Given the description of an element on the screen output the (x, y) to click on. 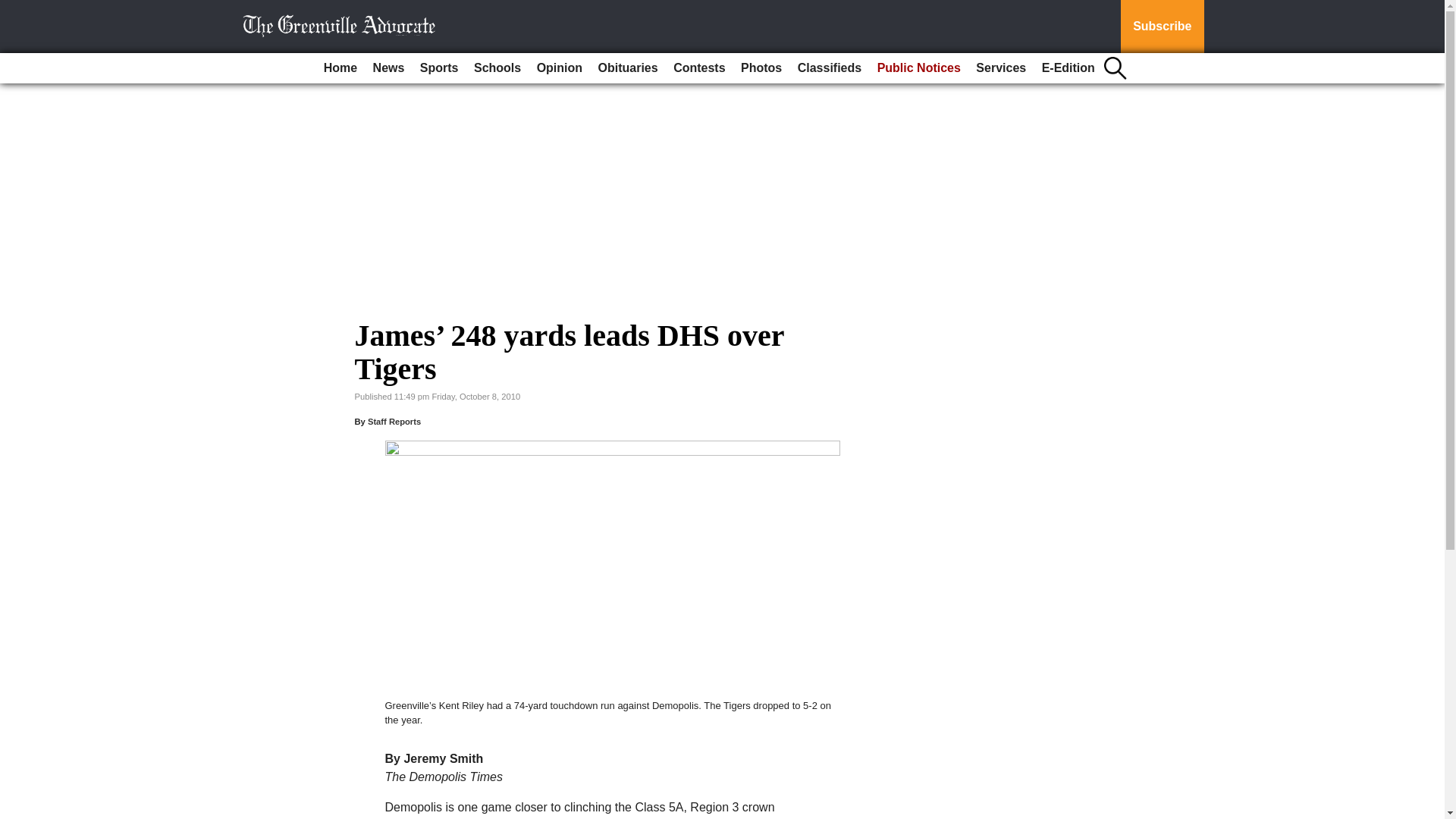
Photos (761, 68)
Contests (698, 68)
Subscribe (1162, 26)
Home (339, 68)
Public Notices (918, 68)
Go (13, 9)
E-Edition (1067, 68)
Classifieds (829, 68)
Staff Reports (394, 420)
Schools (497, 68)
